Given the description of an element on the screen output the (x, y) to click on. 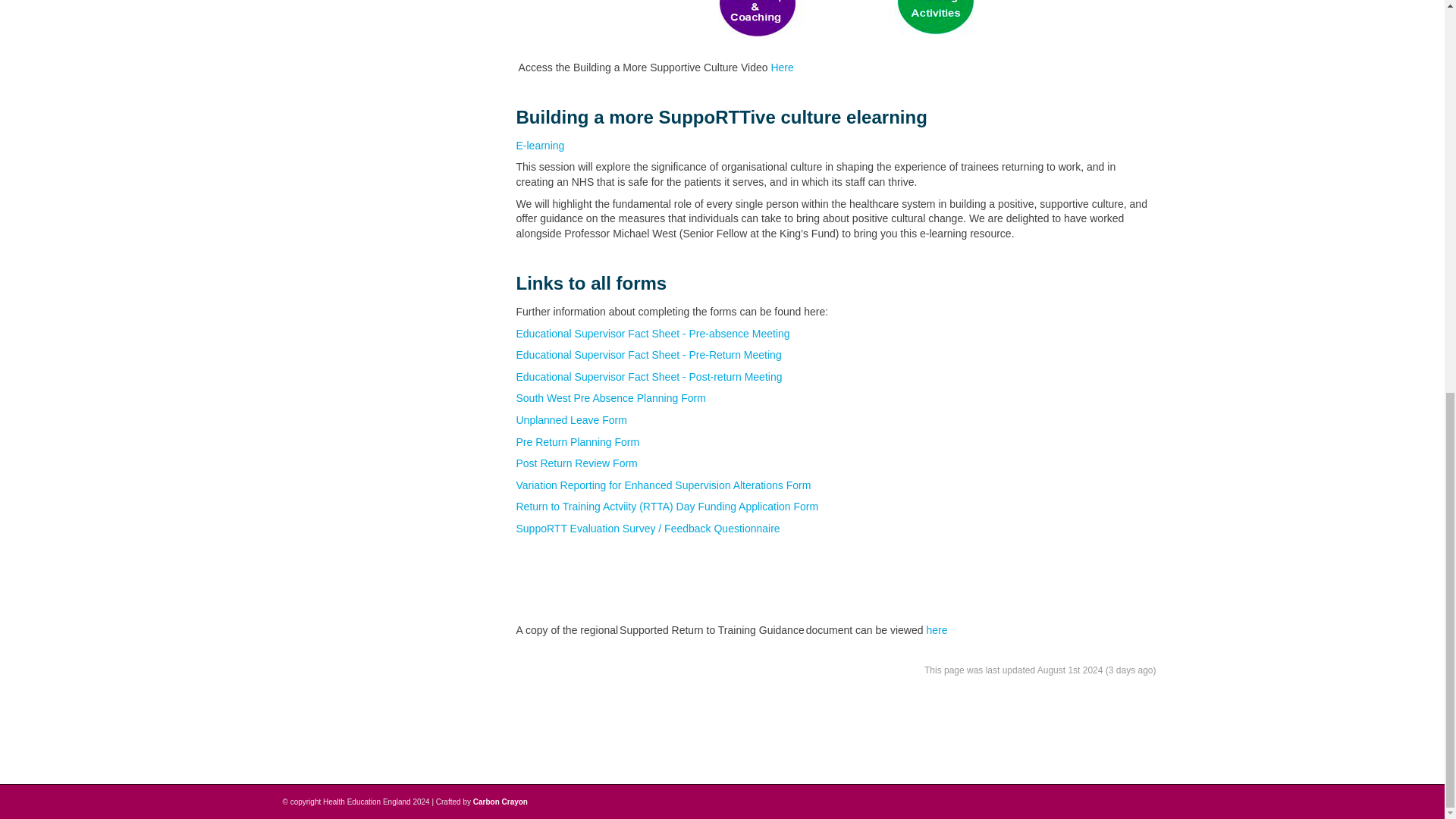
Here (781, 67)
Educational Supervisor Fact Sheet - Pre-absence Meeting (652, 333)
Carbon Crayon (500, 801)
video what SuppoRTT offers (835, 25)
 ES fact sheet post return meeting (648, 377)
Unplanned Leave Form (570, 419)
ES fact sheet pre return meeting (647, 354)
e-learning (539, 145)
Post Return Review Form (576, 463)
here (936, 630)
